Given the description of an element on the screen output the (x, y) to click on. 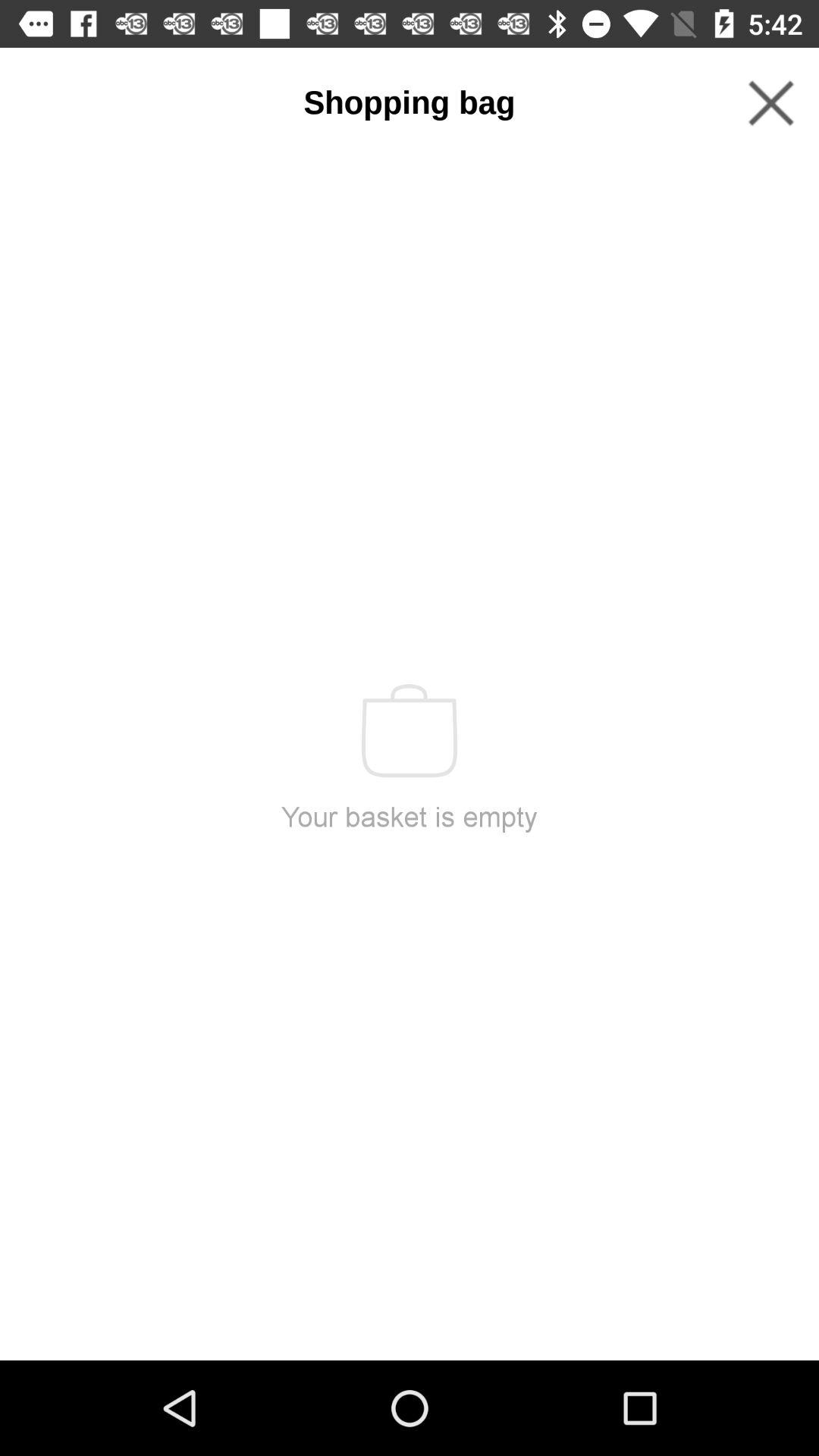
open the icon to the right of shopping bag (771, 103)
